Given the description of an element on the screen output the (x, y) to click on. 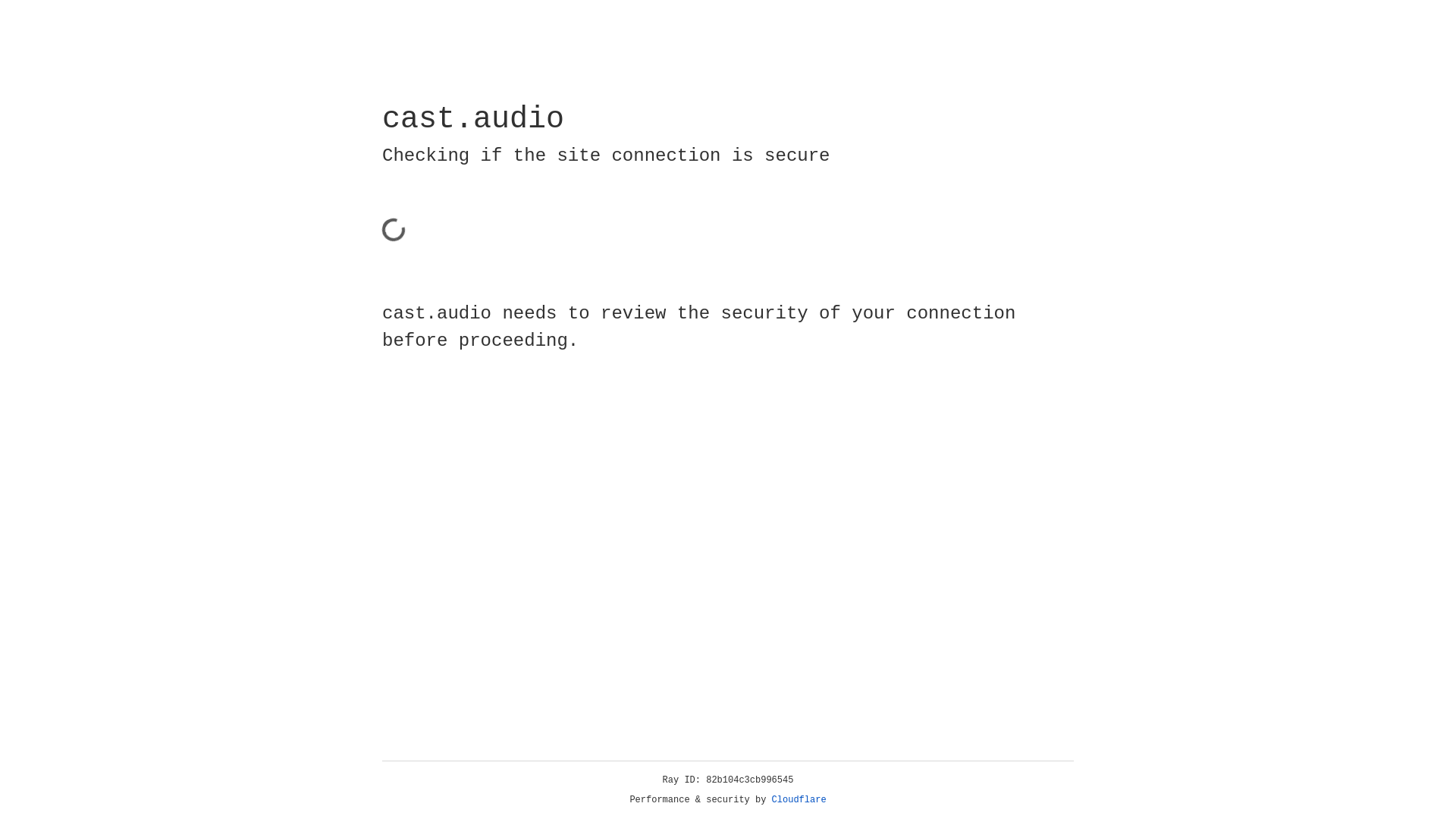
Cloudflare Element type: text (798, 799)
